Given the description of an element on the screen output the (x, y) to click on. 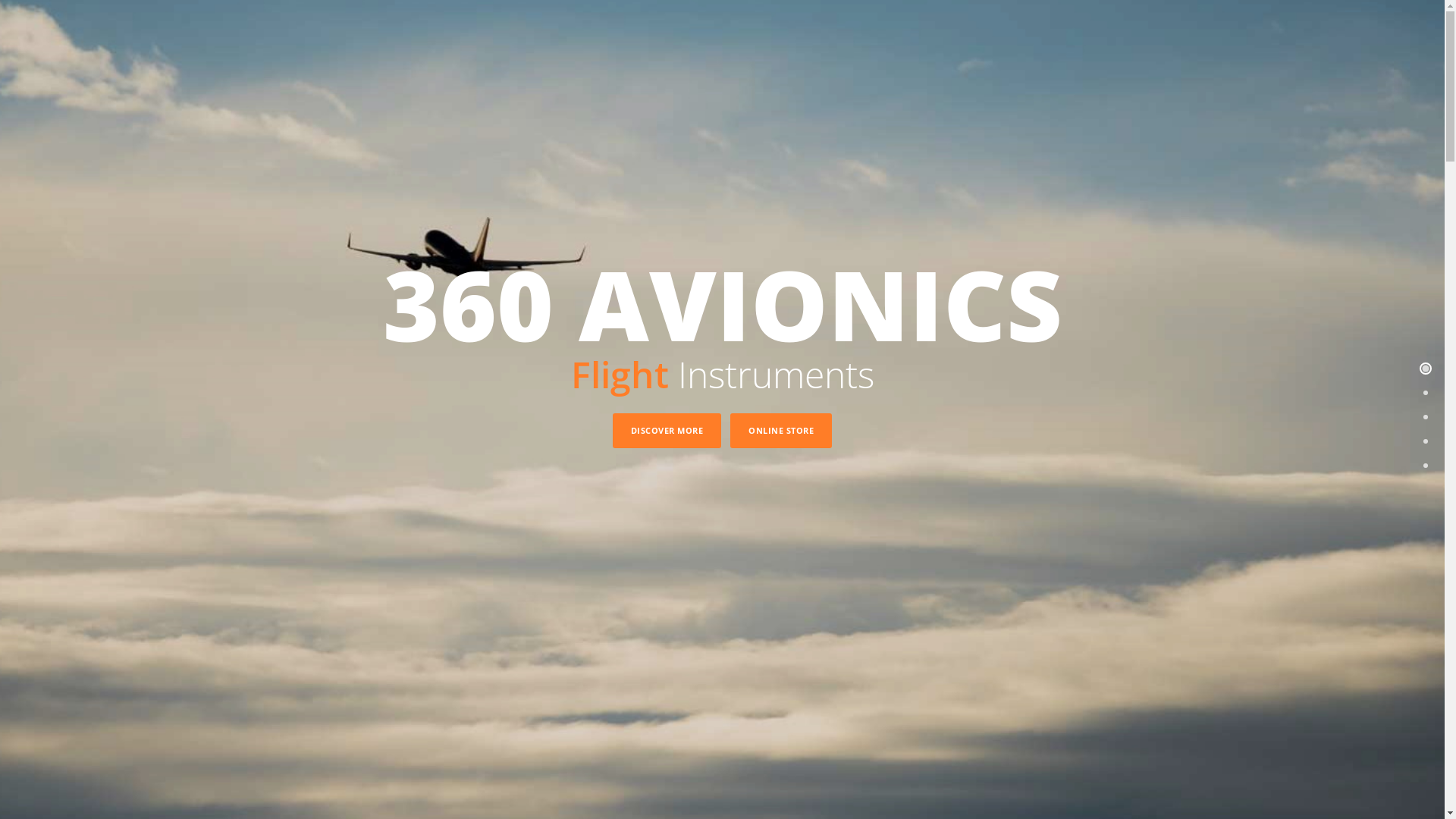
ONLINE STORE Element type: text (780, 430)
DISCOVER MORE Element type: text (666, 430)
